Given the description of an element on the screen output the (x, y) to click on. 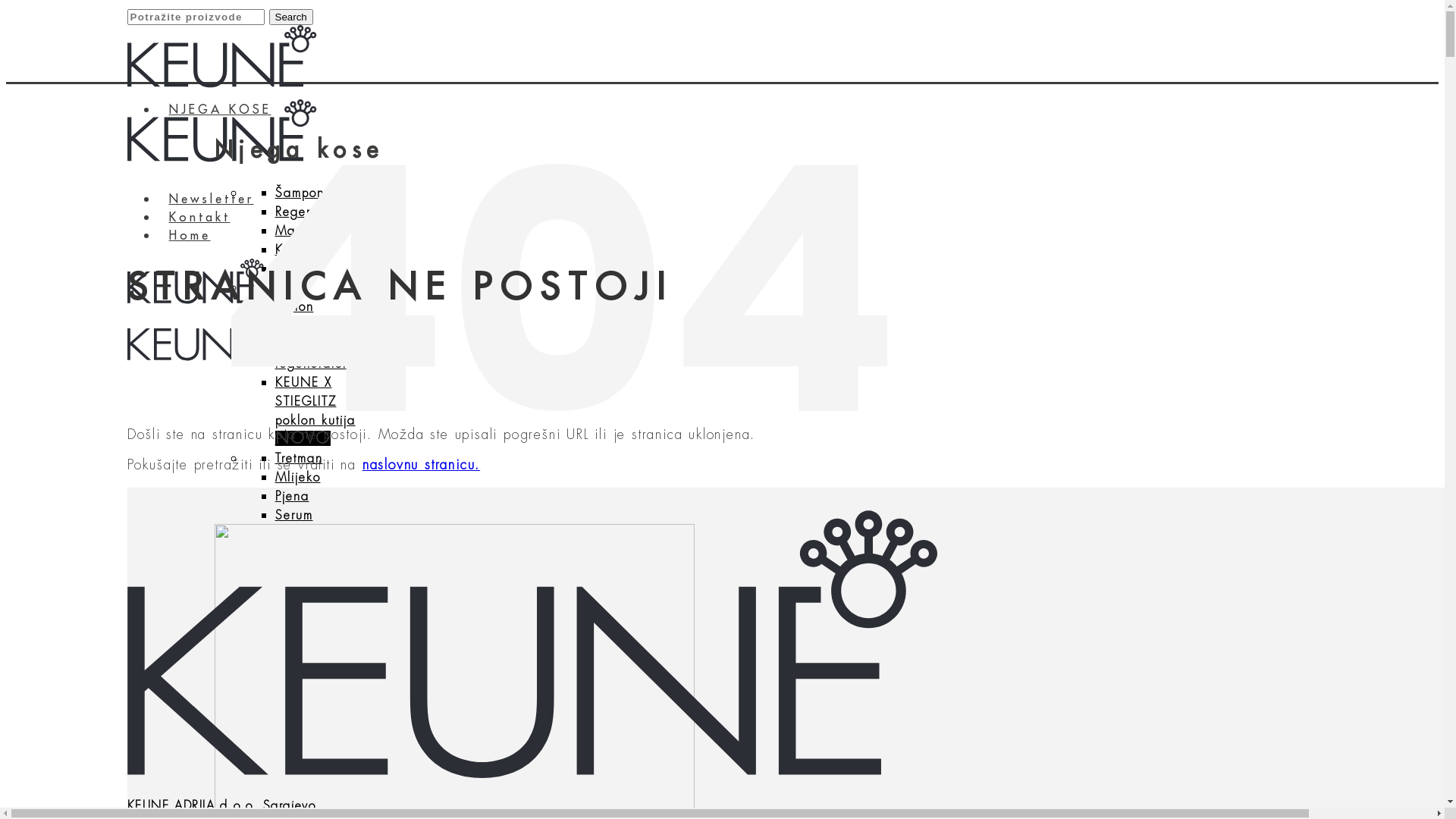
Home Element type: text (189, 235)
Regenerator Element type: text (311, 212)
Newsletter Element type: text (211, 199)
Mlijeko Element type: text (297, 477)
Search Element type: text (290, 17)
Ulje Element type: text (286, 288)
NJEGA KOSE Element type: text (219, 109)
Tretman Element type: text (298, 458)
Pjena Element type: text (291, 496)
Kontakt Element type: text (199, 217)
Maska Element type: text (295, 231)
Leave-in regenerator Element type: text (310, 354)
Sprej Element type: text (290, 269)
Serum Element type: text (293, 515)
naslovnu stranicu. Element type: text (421, 464)
Losion Element type: text (293, 307)
KEUNE X STIEGLITZ poklon kutija NOVO Element type: text (314, 410)
Krema Element type: text (293, 250)
Eliksir Element type: text (292, 326)
